Given the description of an element on the screen output the (x, y) to click on. 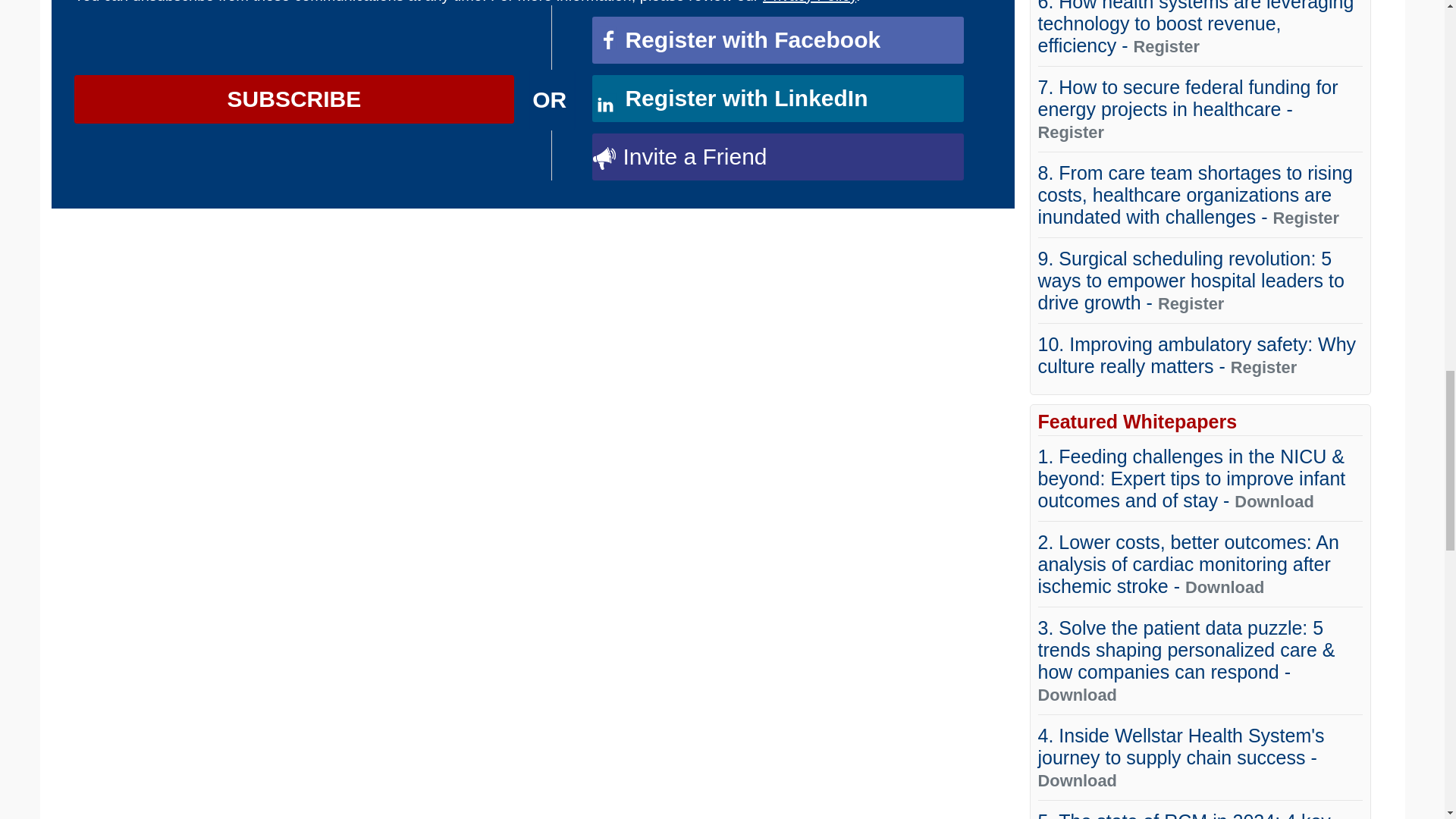
SUBSCRIBE (294, 99)
